Given the description of an element on the screen output the (x, y) to click on. 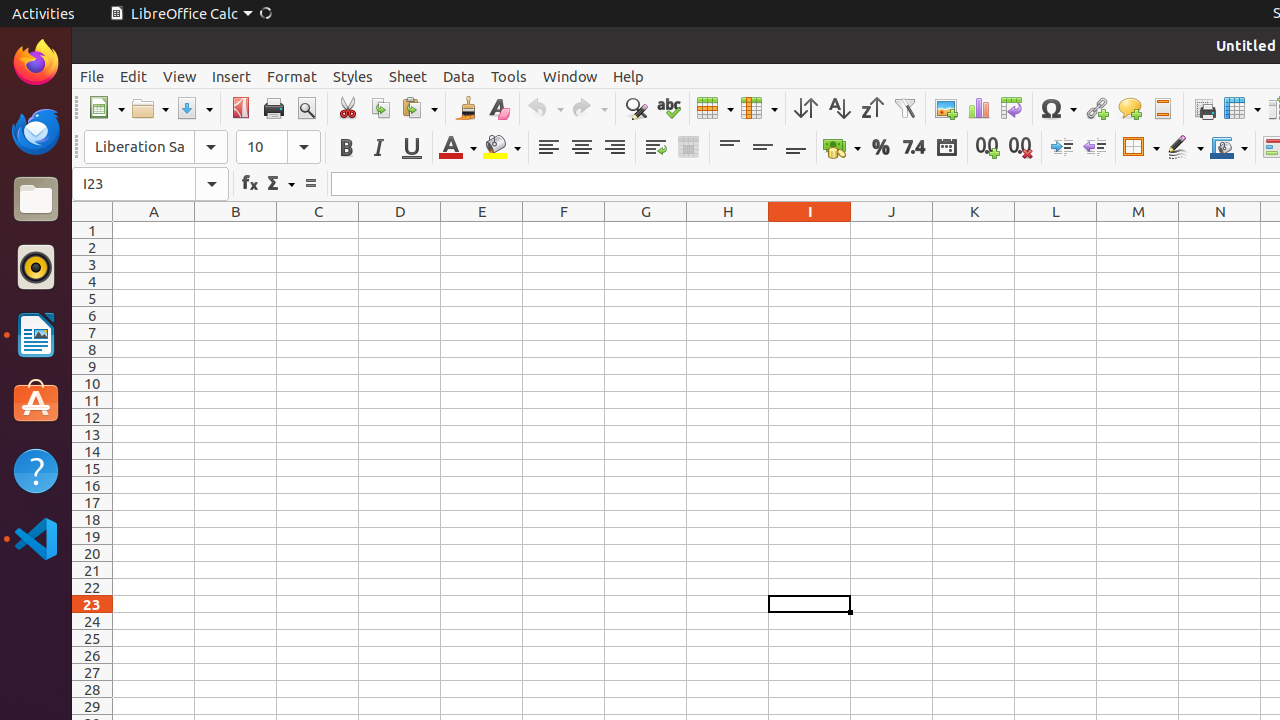
Copy Element type: push-button (380, 108)
Window Element type: menu (570, 76)
A1 Element type: table-cell (154, 230)
